Given the description of an element on the screen output the (x, y) to click on. 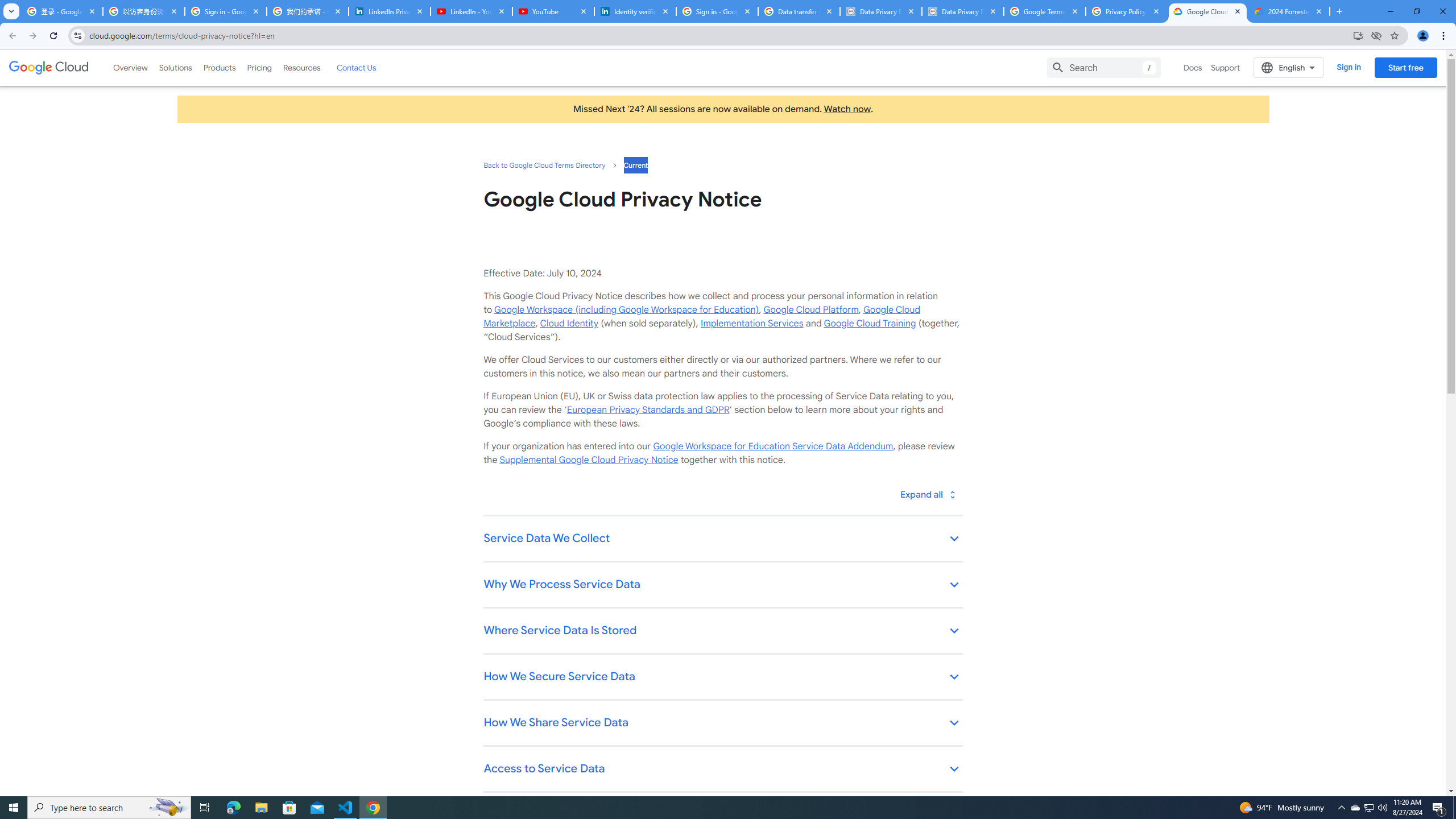
Google Workspace (including Google Workspace for Education) (625, 309)
Back to Google Cloud Terms Directory (544, 165)
Google Cloud Training (869, 323)
YouTube (552, 11)
Google Cloud (48, 67)
Where Service Data Is Stored keyboard_arrow_down (722, 631)
Resources (301, 67)
